Given the description of an element on the screen output the (x, y) to click on. 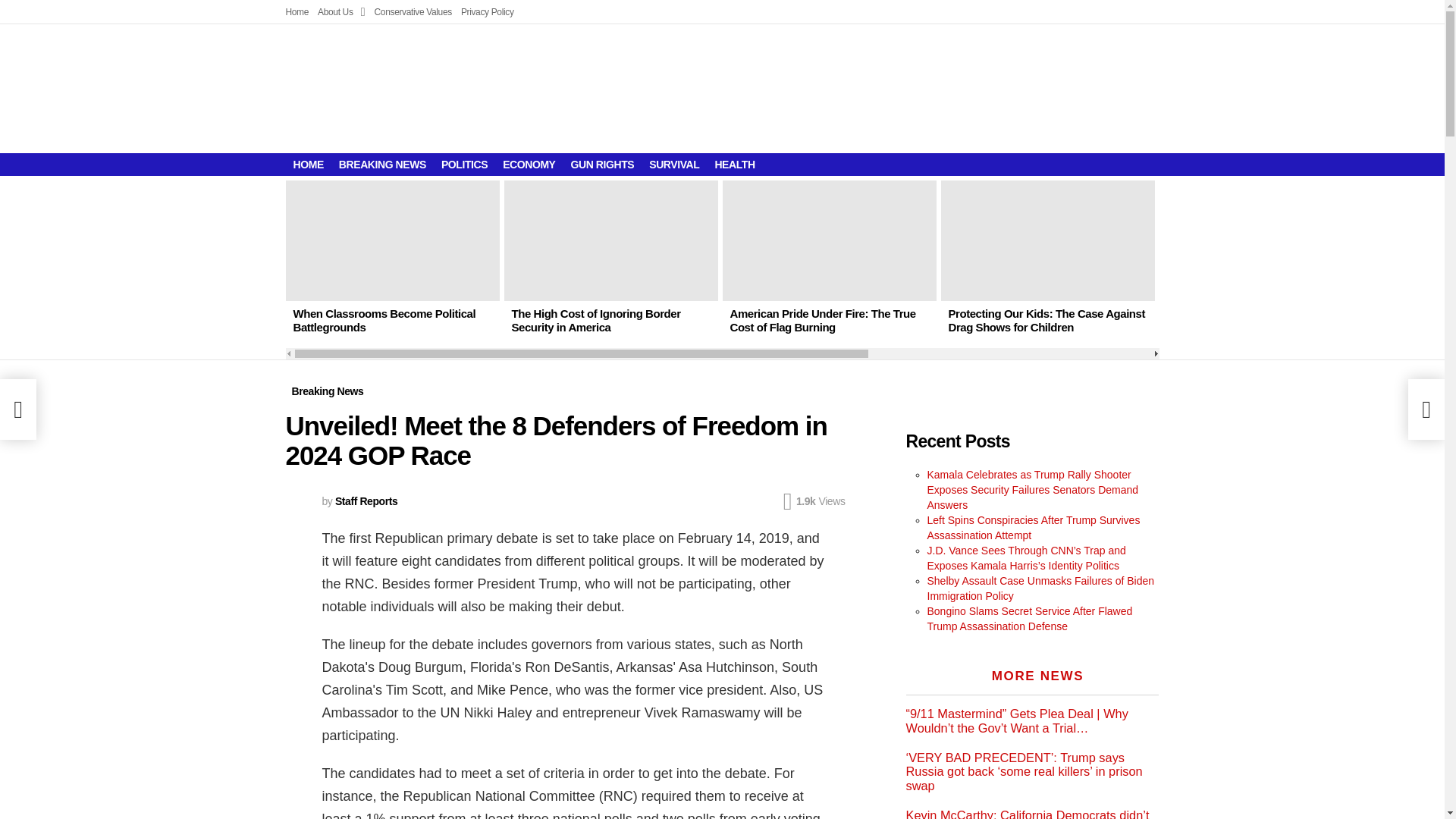
When Classrooms Become Political Battlegrounds (392, 240)
American Pride Under Fire: The True Cost of Flag Burning (829, 240)
HOME (307, 164)
SURVIVAL (674, 164)
POLITICS (464, 164)
HEALTH (733, 164)
Staff Reports (365, 500)
How Tax Exemption for Seniors Can Boost the Economy (1257, 320)
The High Cost of Ignoring Border Security in America (595, 320)
Posts by Staff Reports (365, 500)
Conservative Values (412, 12)
GUN RIGHTS (602, 164)
About Us (341, 12)
